Given the description of an element on the screen output the (x, y) to click on. 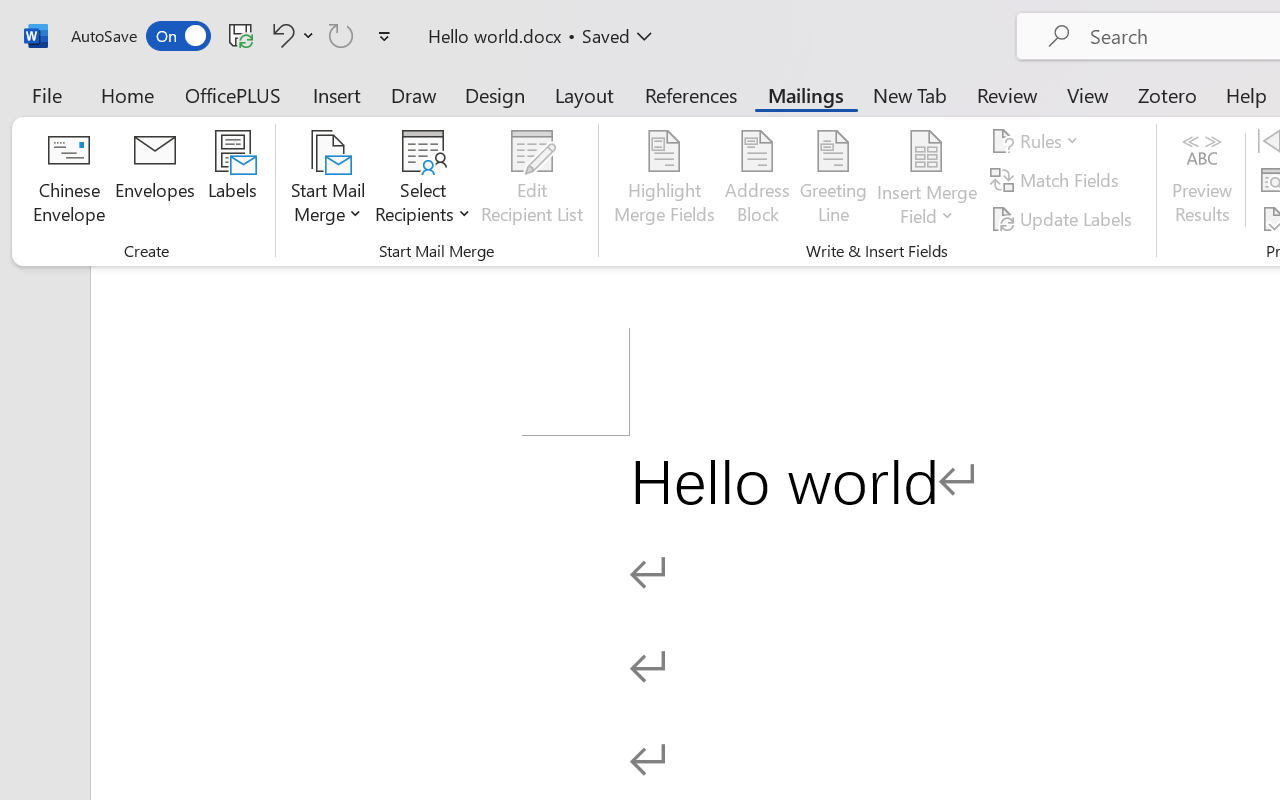
References (690, 94)
Highlight Merge Fields (664, 179)
Undo Click and Type Formatting (280, 35)
Insert (337, 94)
Chinese Envelope... (68, 179)
Save (241, 35)
Quick Access Toolbar (233, 36)
Can't Repeat (341, 35)
Draw (413, 94)
